Given the description of an element on the screen output the (x, y) to click on. 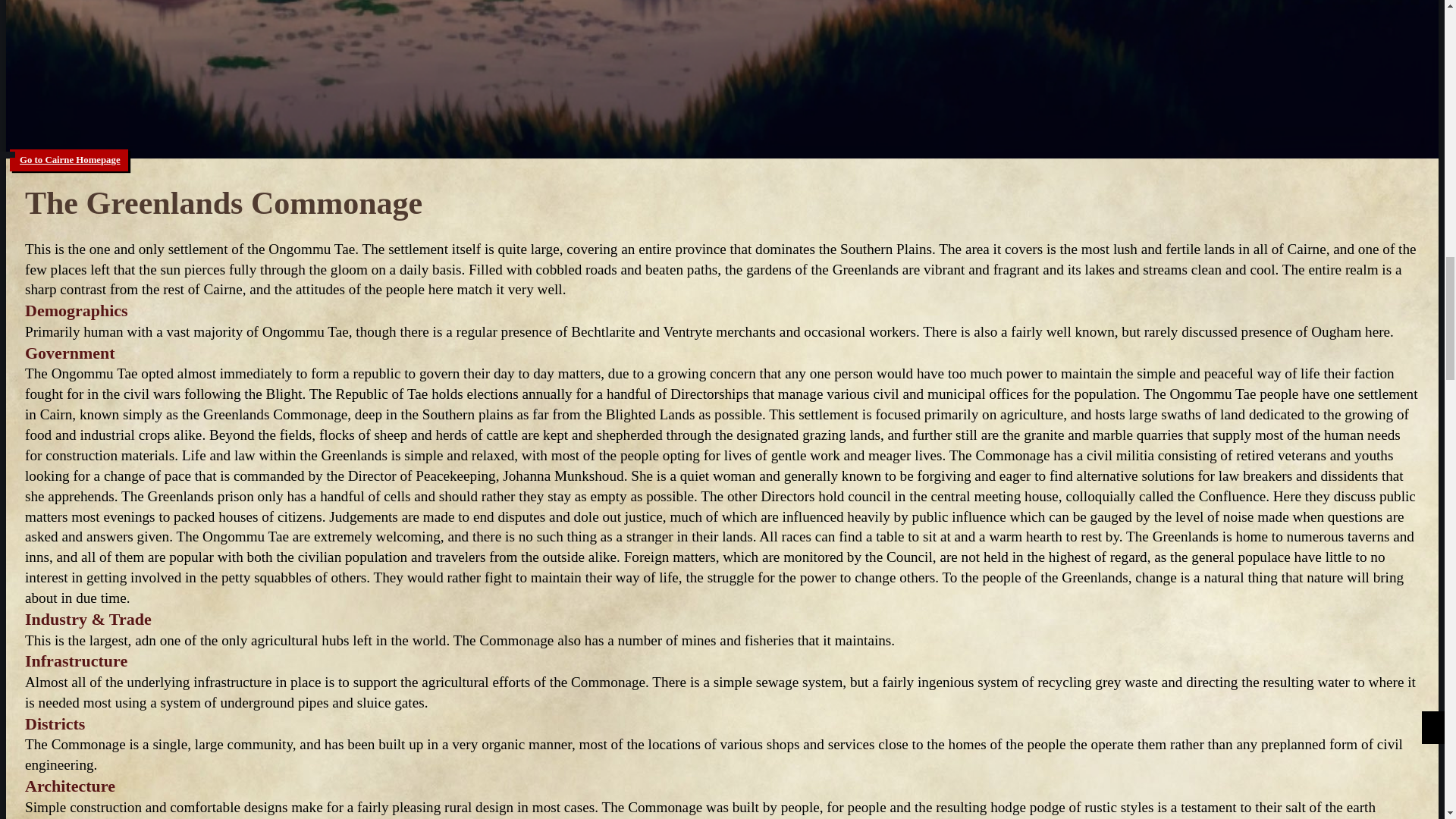
Go to Cairne Homepage (69, 160)
